Given the description of an element on the screen output the (x, y) to click on. 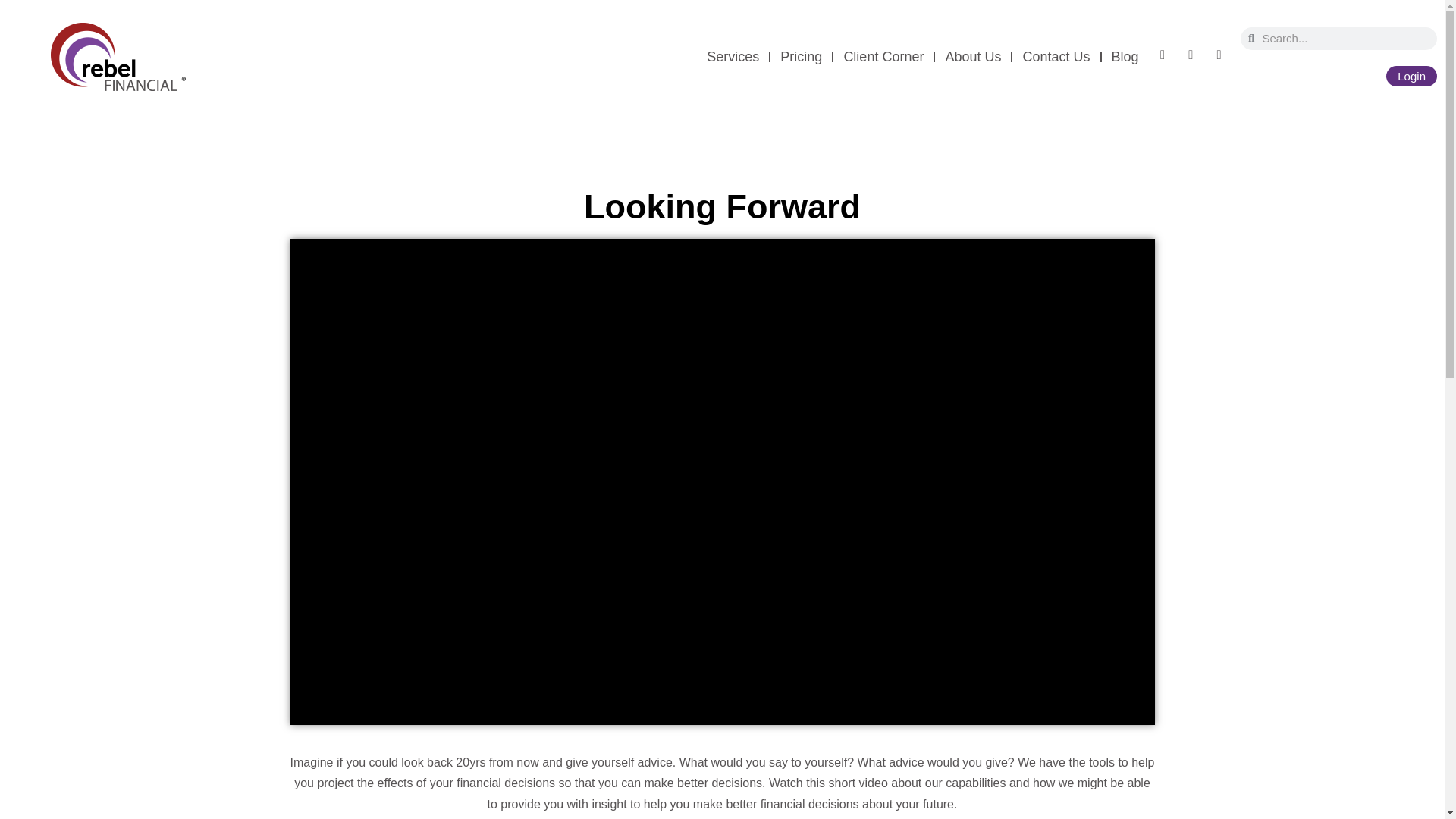
Client Corner (882, 56)
Contact Us (1055, 56)
About Us (972, 56)
Pricing (800, 56)
Blog (1125, 56)
Services (732, 56)
RebelLogoNoTagline (118, 56)
